Given the description of an element on the screen output the (x, y) to click on. 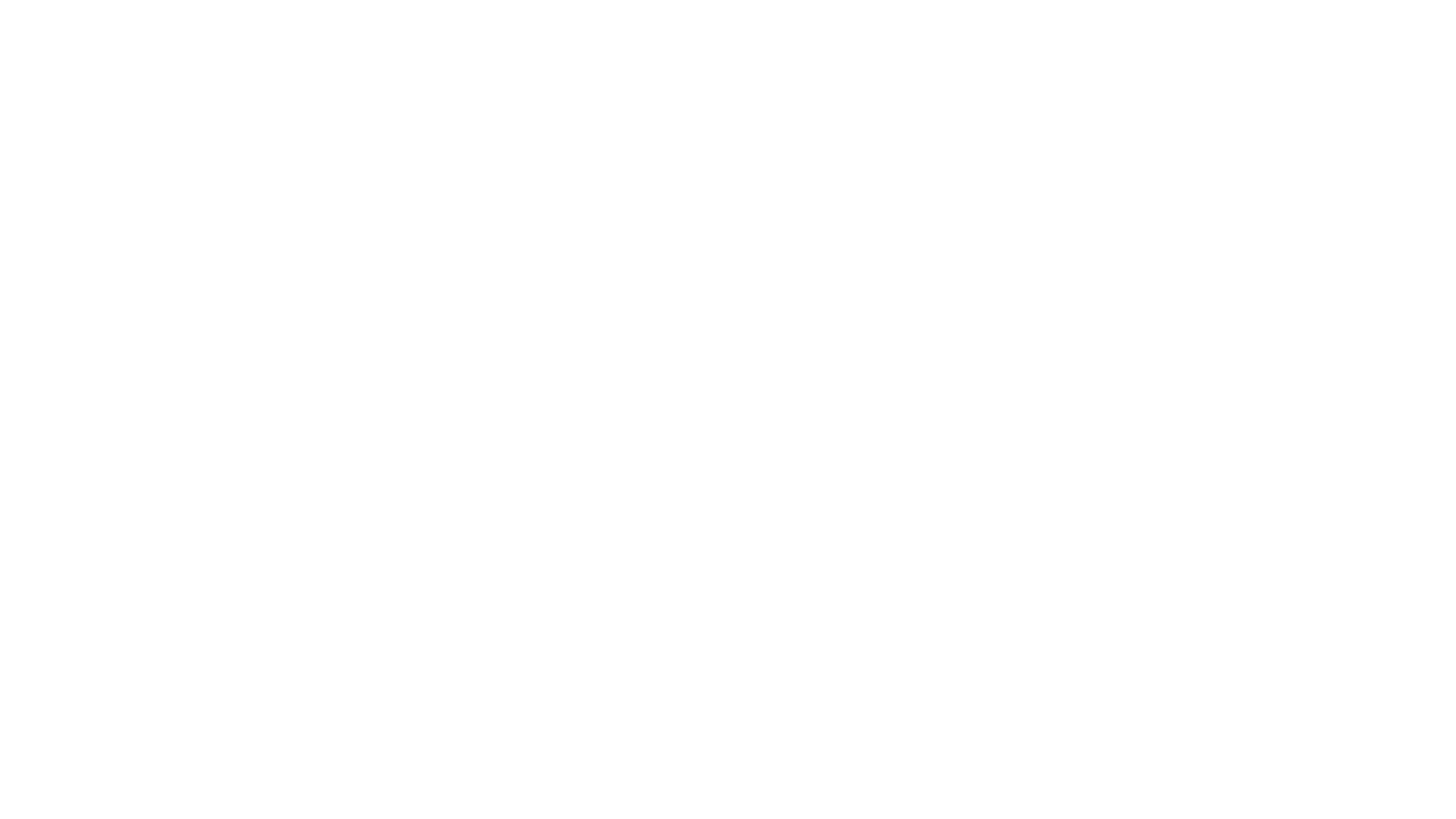
E-Mail Element type: text (746, 570)
